Given the description of an element on the screen output the (x, y) to click on. 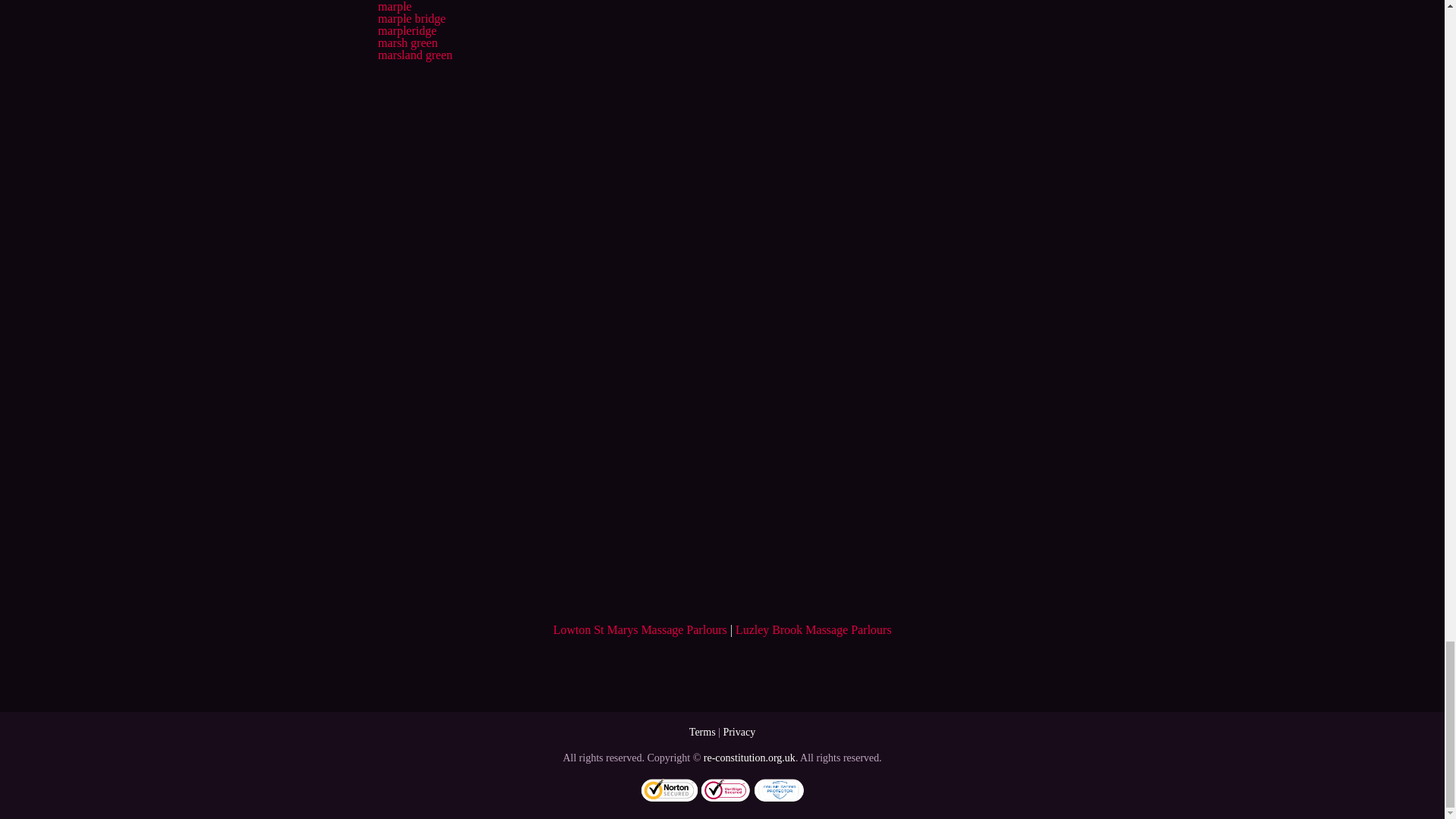
re-constitution.org.uk (748, 757)
marple bridge (411, 18)
marpleridge (406, 30)
marsh green (407, 42)
Lowton St Marys Massage Parlours (639, 629)
Terms (702, 731)
marple (393, 6)
Luzley Brook Massage Parlours (813, 629)
Privacy (738, 731)
Privacy (738, 731)
Terms (702, 731)
marsland green (414, 54)
